Given the description of an element on the screen output the (x, y) to click on. 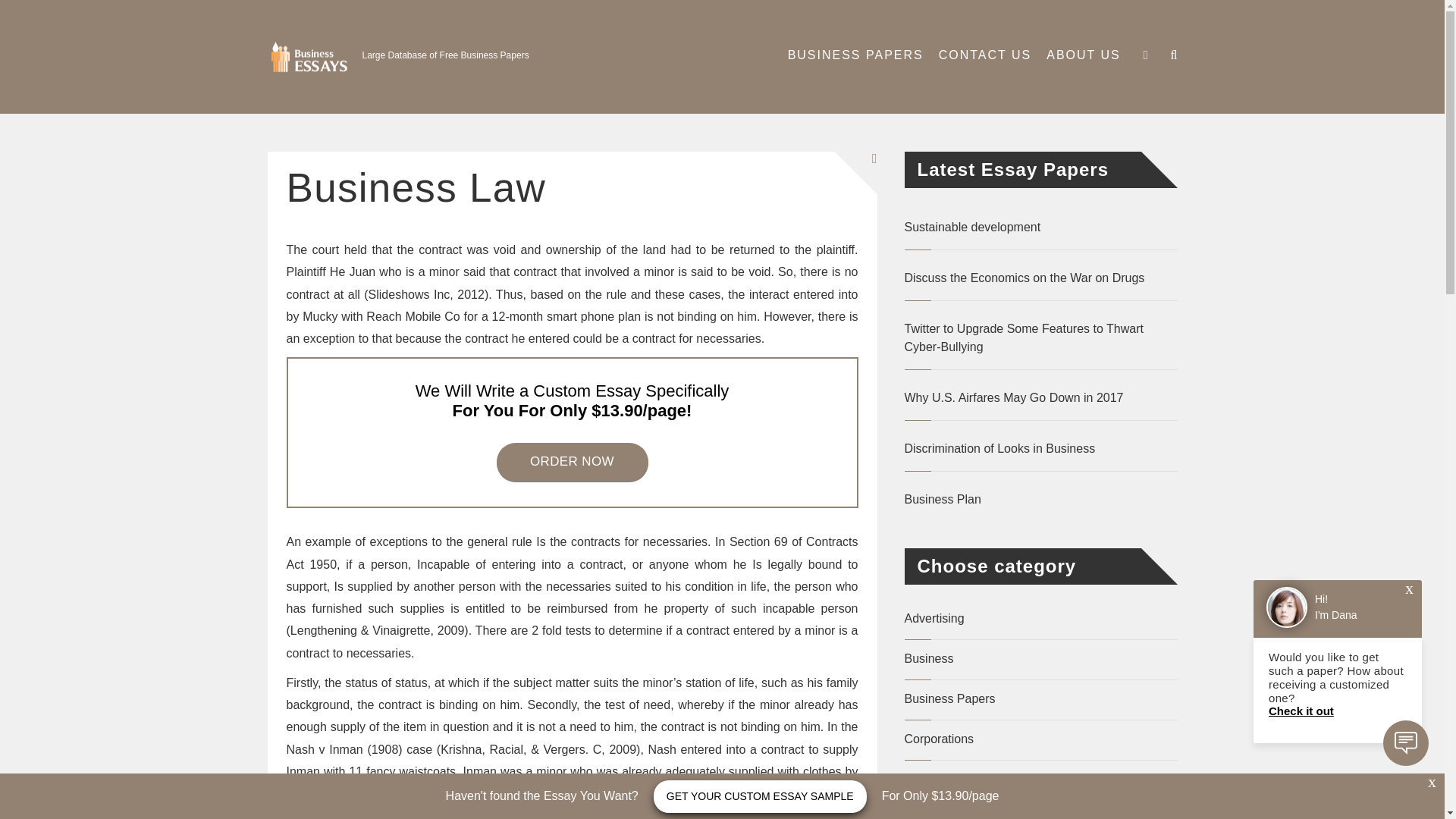
Sustainable development (1040, 227)
Twitter to Upgrade Some Features to Thwart Cyber-Bullying (1040, 338)
Advertising (933, 617)
Discuss the Economics on the War on Drugs (1040, 278)
ORDER NOW (571, 461)
Why U.S. Airfares May Go Down in 2017 (1040, 398)
Customers (933, 779)
Business Plan (1040, 499)
Business (928, 658)
business-papers.com (313, 71)
Corporations (939, 738)
BUSINESS PAPERS (855, 55)
Discrimination of Looks in Business (1040, 448)
CONTACT US (985, 55)
Design (923, 816)
